Given the description of an element on the screen output the (x, y) to click on. 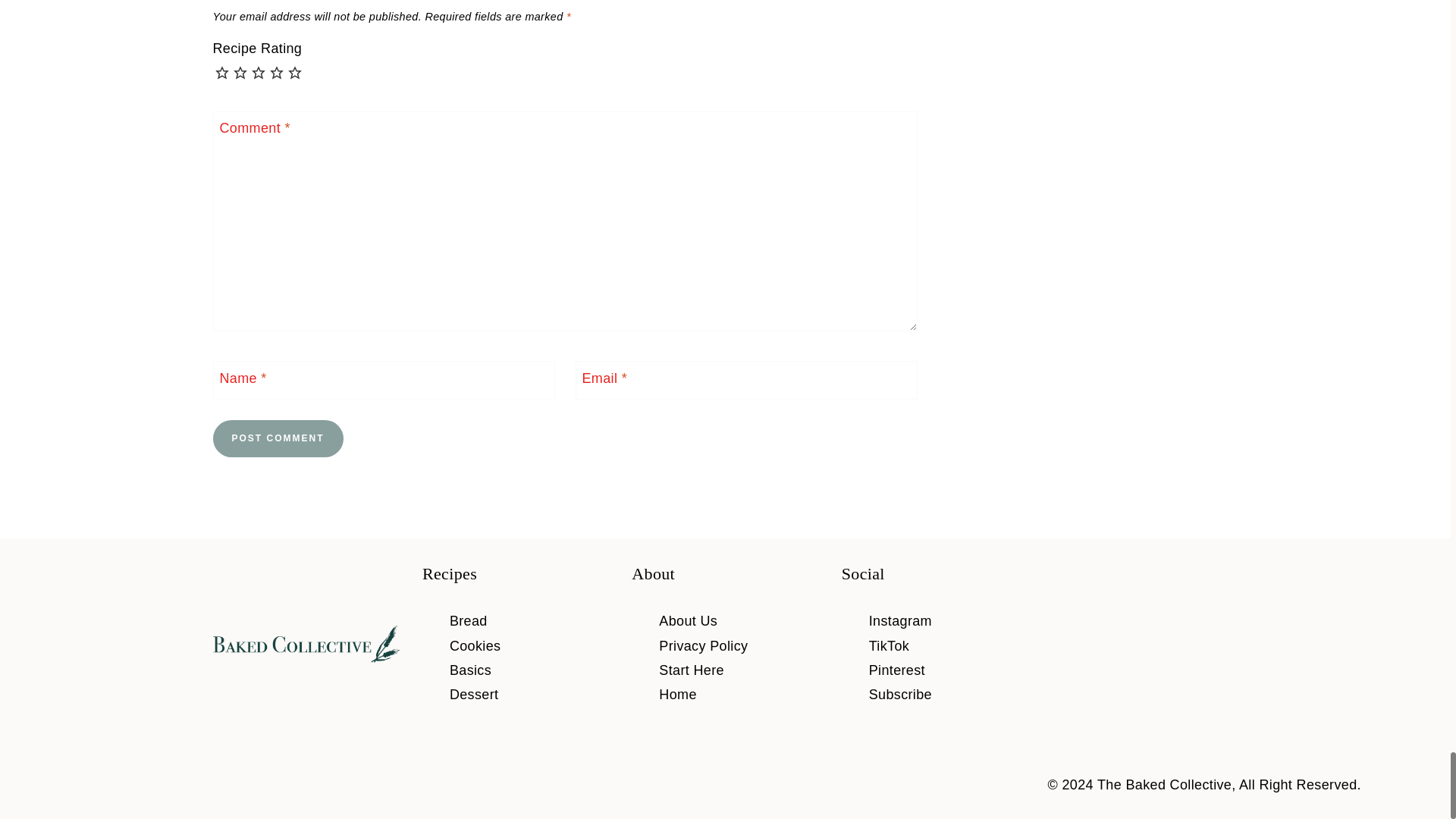
Post Comment (277, 438)
